Given the description of an element on the screen output the (x, y) to click on. 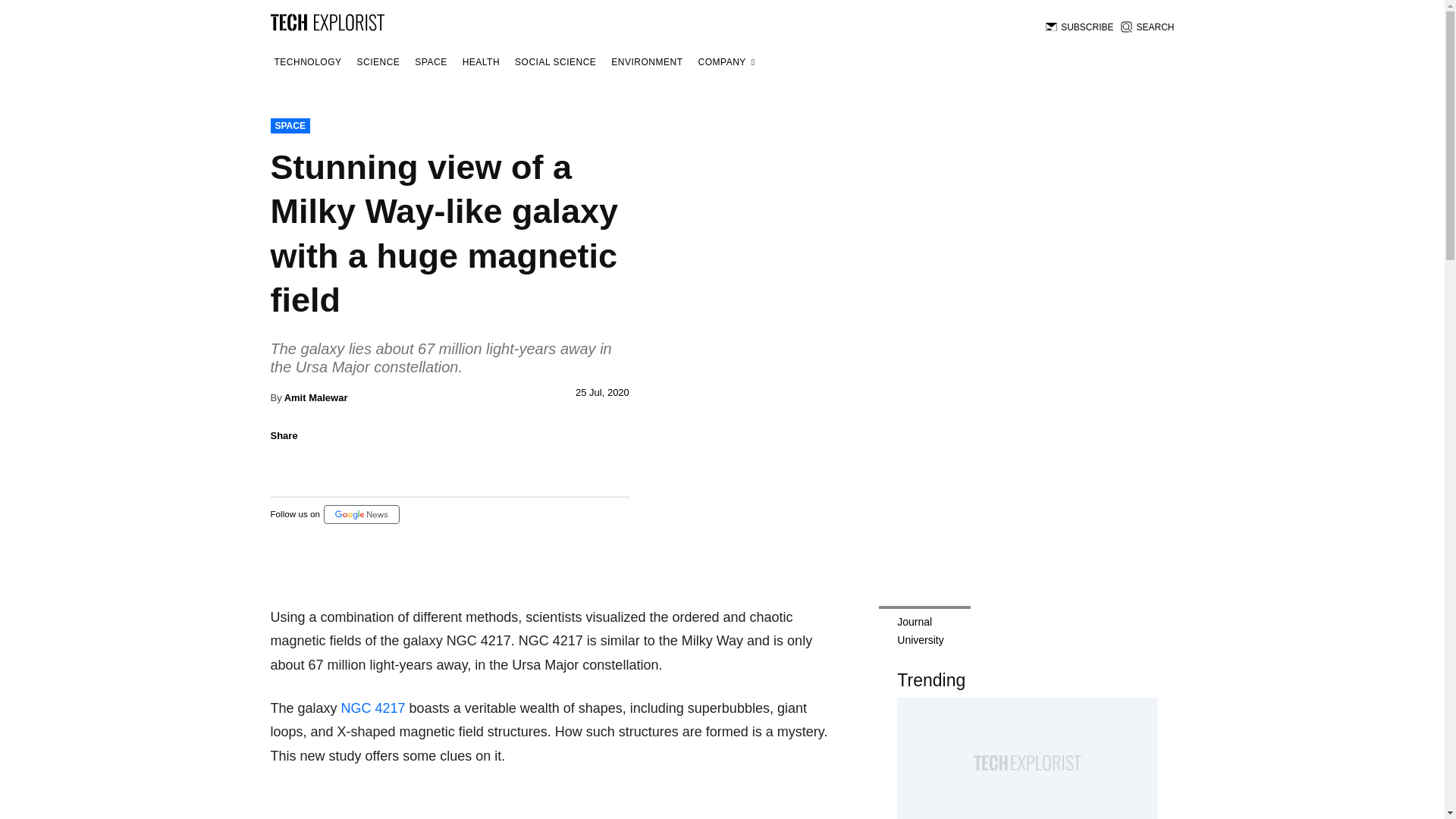
Technology (307, 62)
SEARCH (1147, 26)
Health (480, 62)
SUBSCRIBE (1079, 26)
SPACE (429, 62)
SOCIAL SCIENCE (555, 62)
SEARCH (1147, 26)
TECHNOLOGY (307, 62)
Tech Explorist (326, 21)
Breakthrough: 34 new Giant Radio Sources discovered (1026, 758)
ENVIRONMENT (646, 62)
SCIENCE (378, 62)
NGC 4217 (373, 708)
SUBSCRIBE (1079, 26)
Amit Malewar (315, 397)
